Given the description of an element on the screen output the (x, y) to click on. 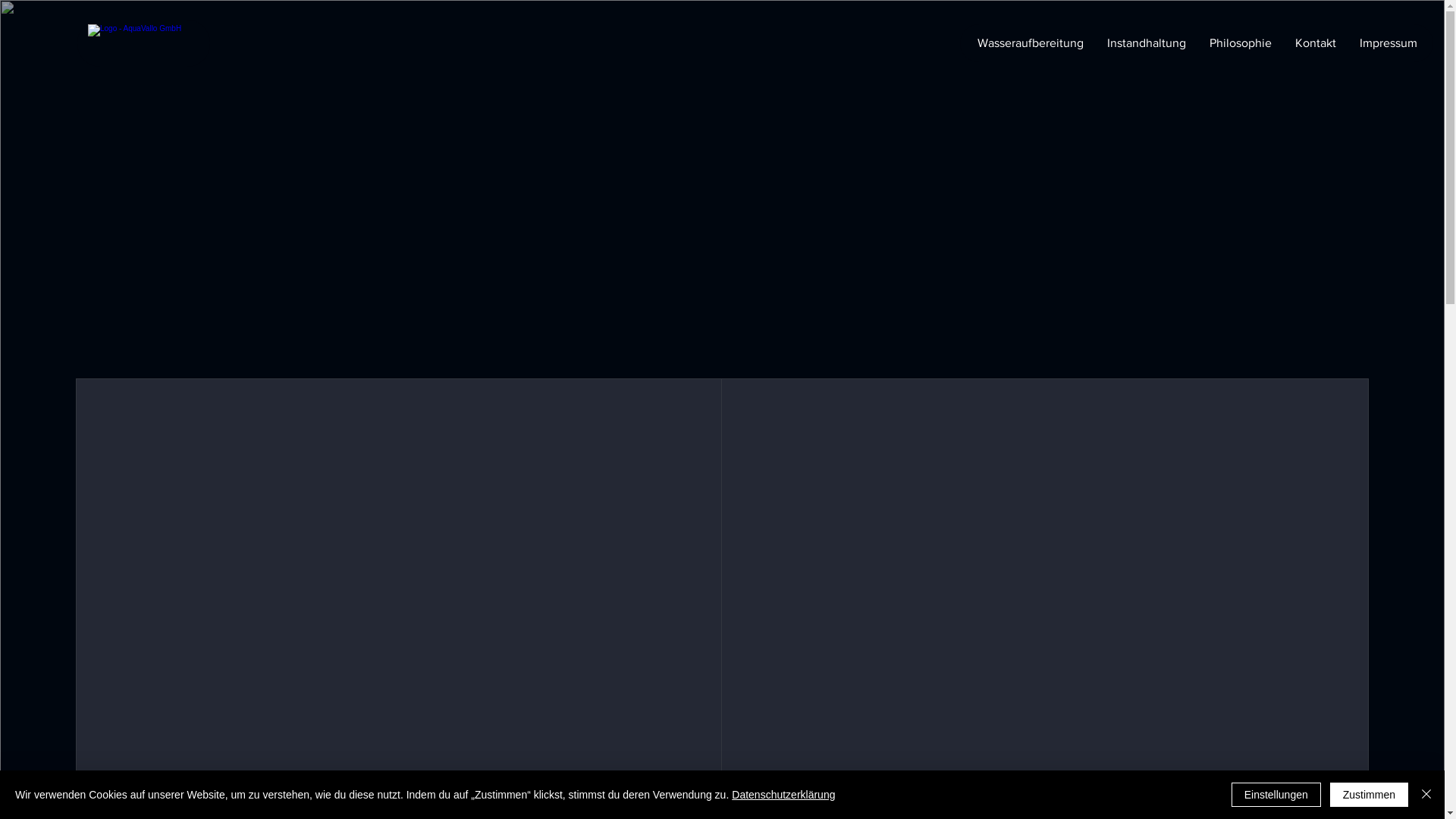
Philosophie Element type: text (1239, 43)
Wasseraufbereitung Element type: text (1029, 43)
Einstellungen Element type: text (1276, 794)
Instandhaltung Element type: text (1146, 43)
Kontakt Element type: text (1315, 43)
Zustimmen Element type: text (1369, 794)
Impressum Element type: text (1386, 43)
